Given the description of an element on the screen output the (x, y) to click on. 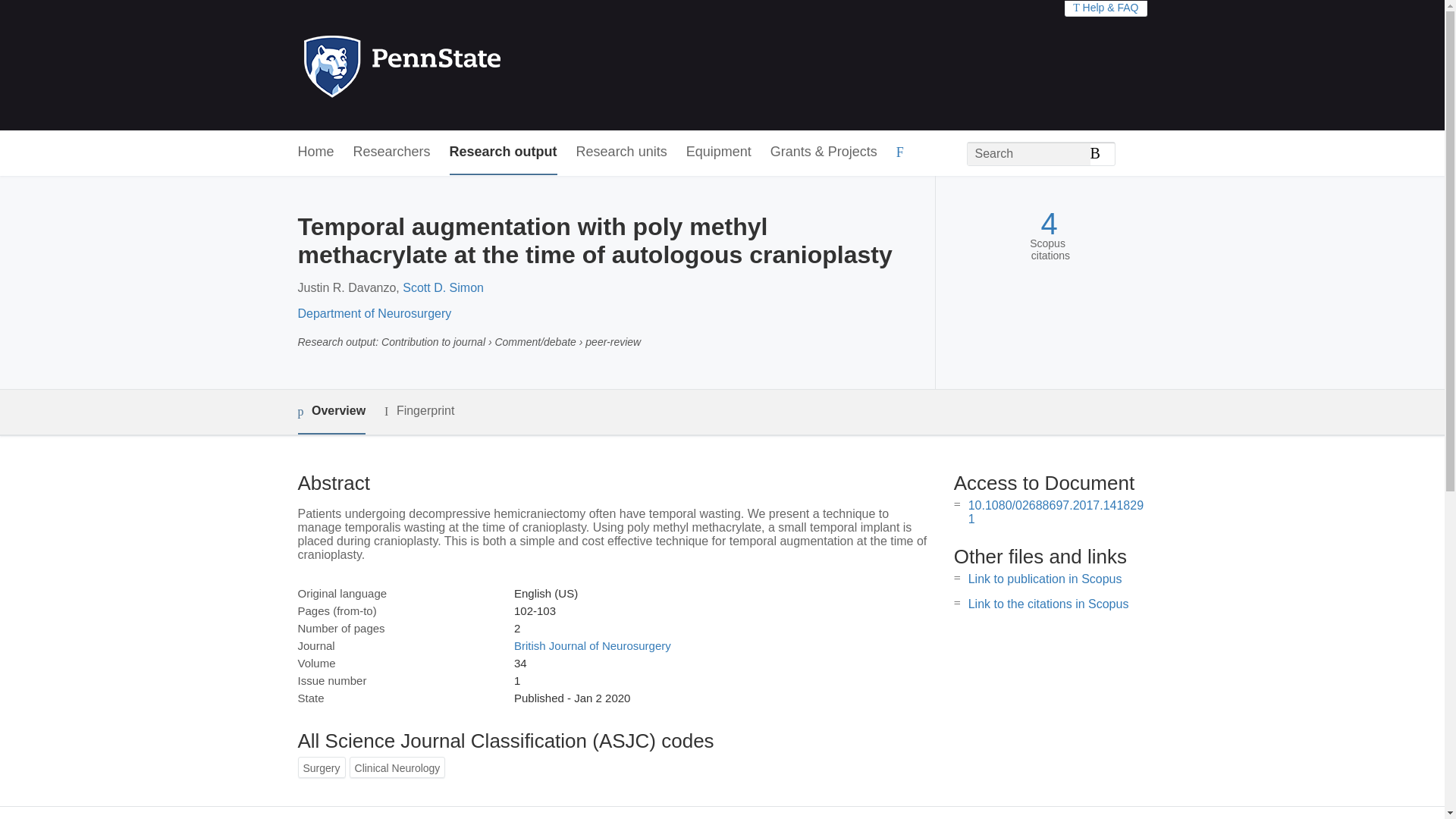
Equipment (718, 152)
Link to the citations in Scopus (1048, 603)
Research output (503, 152)
Researchers (391, 152)
Fingerprint (419, 411)
Link to publication in Scopus (1045, 578)
Department of Neurosurgery (374, 313)
Scott D. Simon (443, 287)
British Journal of Neurosurgery (592, 645)
